Given the description of an element on the screen output the (x, y) to click on. 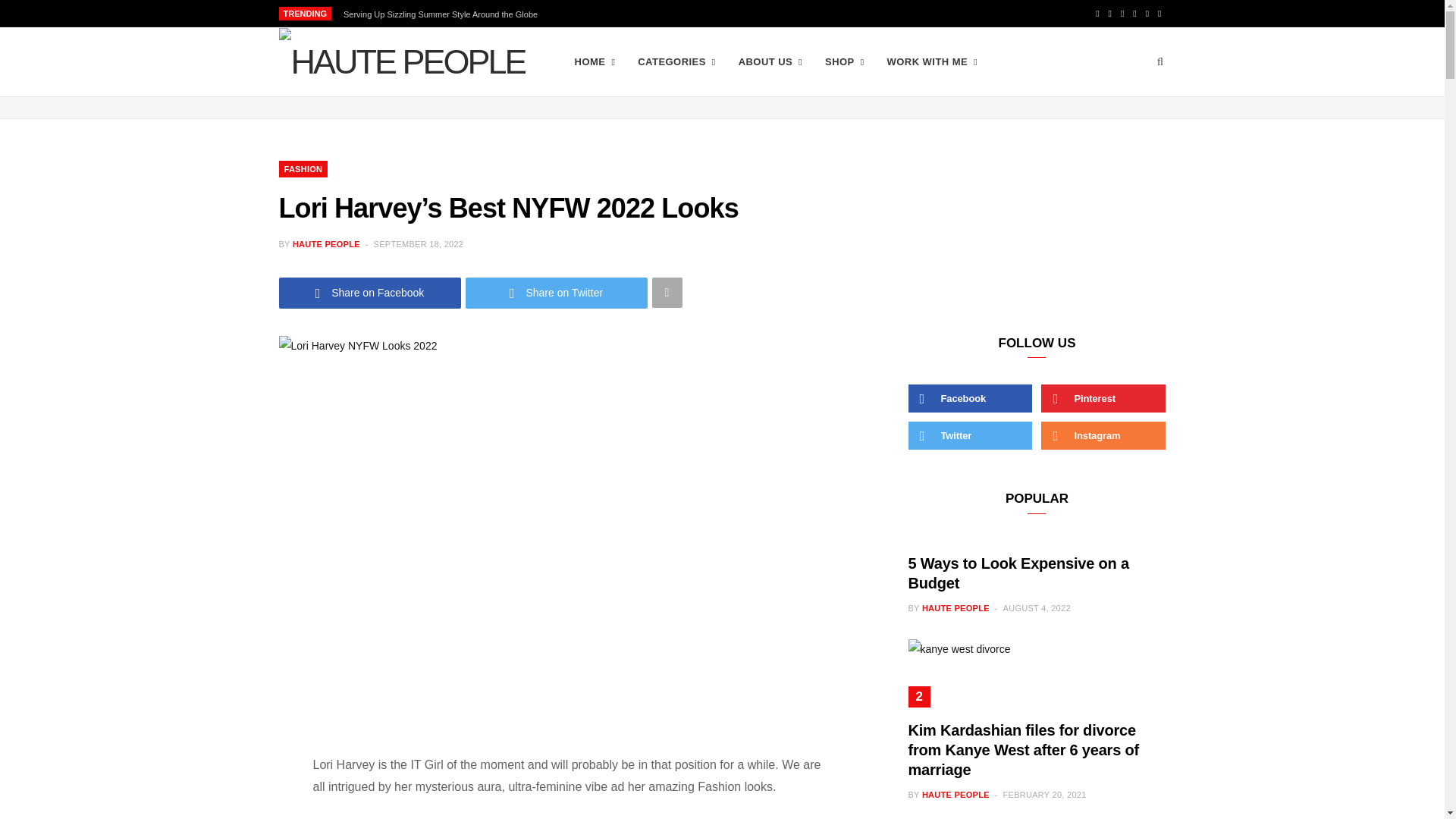
Serving Up Sizzling Summer Style Around the Globe (443, 14)
Posts by Haute People (325, 243)
Serving Up Sizzling Summer Style Around the Globe (443, 14)
CATEGORIES (676, 61)
HOME (595, 61)
Share on Facebook (370, 292)
Share on Twitter (556, 292)
Haute People (402, 61)
